Given the description of an element on the screen output the (x, y) to click on. 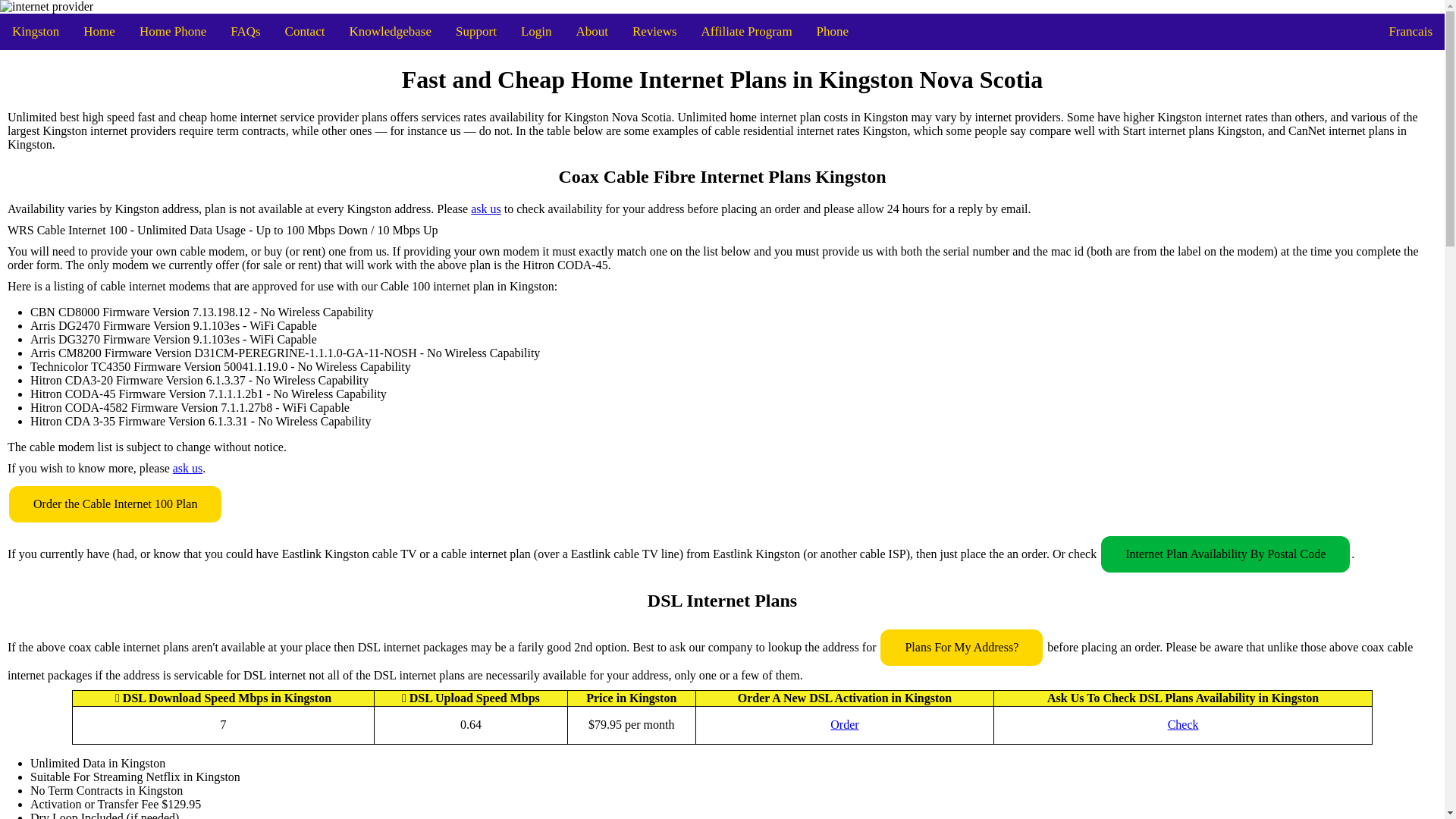
Phone (833, 31)
Kingston (35, 31)
Home (99, 31)
Login (536, 31)
ask us (485, 209)
Support (476, 31)
Check (1182, 725)
FAQs (245, 31)
ask us (188, 468)
Order (844, 725)
